Given the description of an element on the screen output the (x, y) to click on. 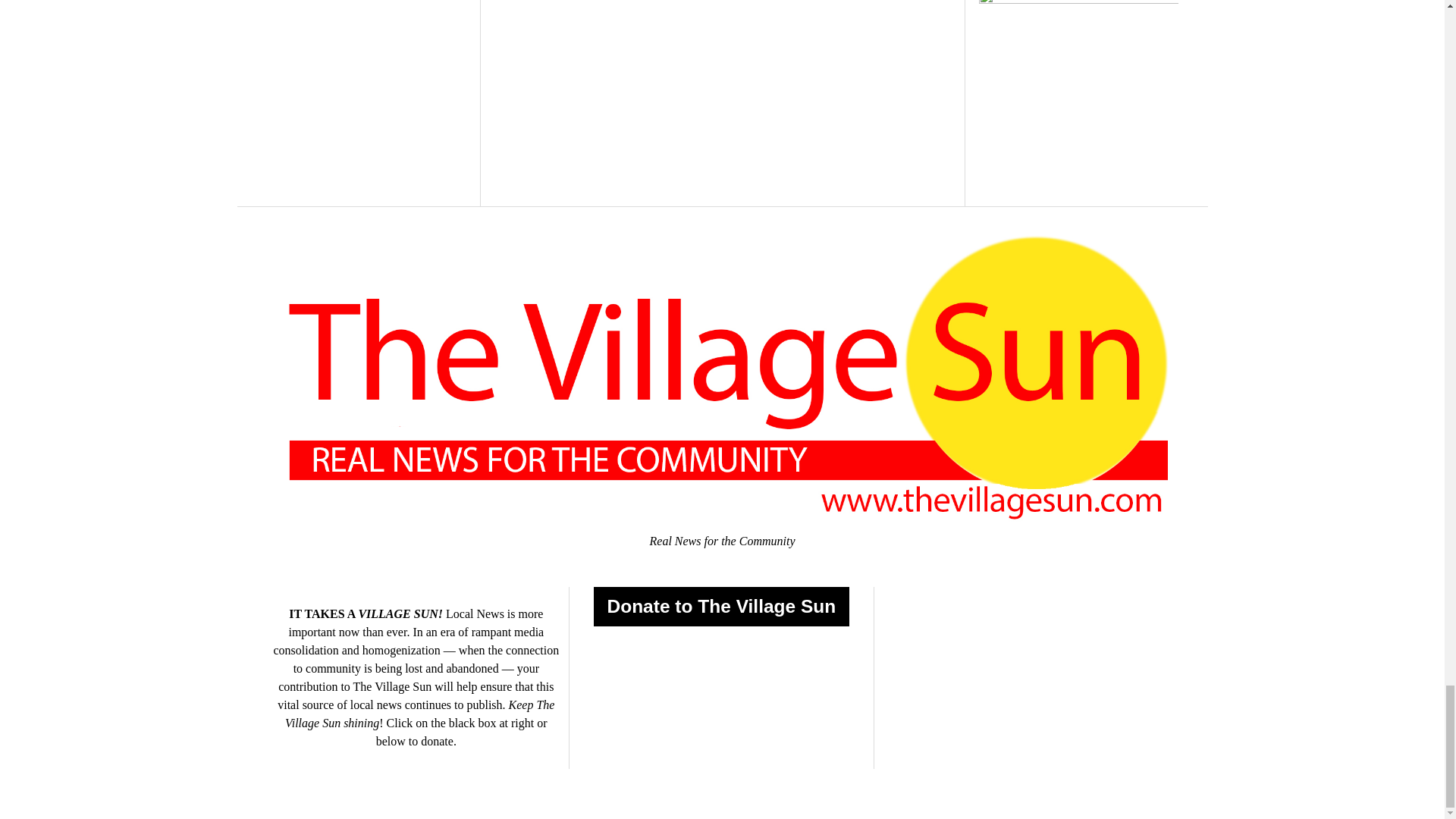
Donate to The Village Sun (720, 606)
